Given the description of an element on the screen output the (x, y) to click on. 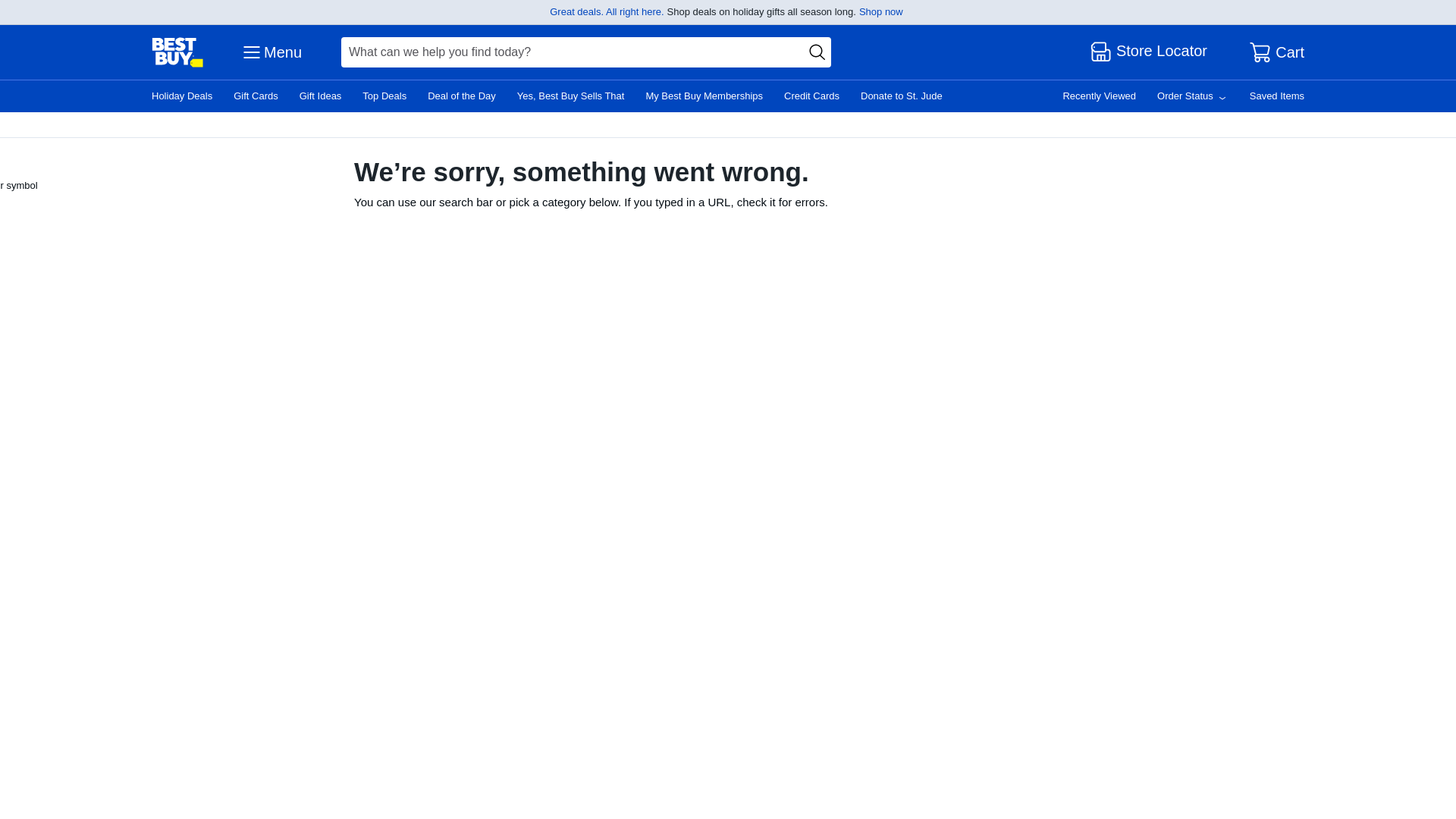
Shop now (880, 11)
Top Deals (384, 95)
Saved Items (1276, 96)
Store Locator (1150, 51)
Gift Ideas (320, 95)
My Best Buy Memberships (703, 95)
Gift Cards (255, 95)
Cart (1276, 51)
Menu (270, 52)
Yes, Best Buy Sells That (570, 95)
